Given the description of an element on the screen output the (x, y) to click on. 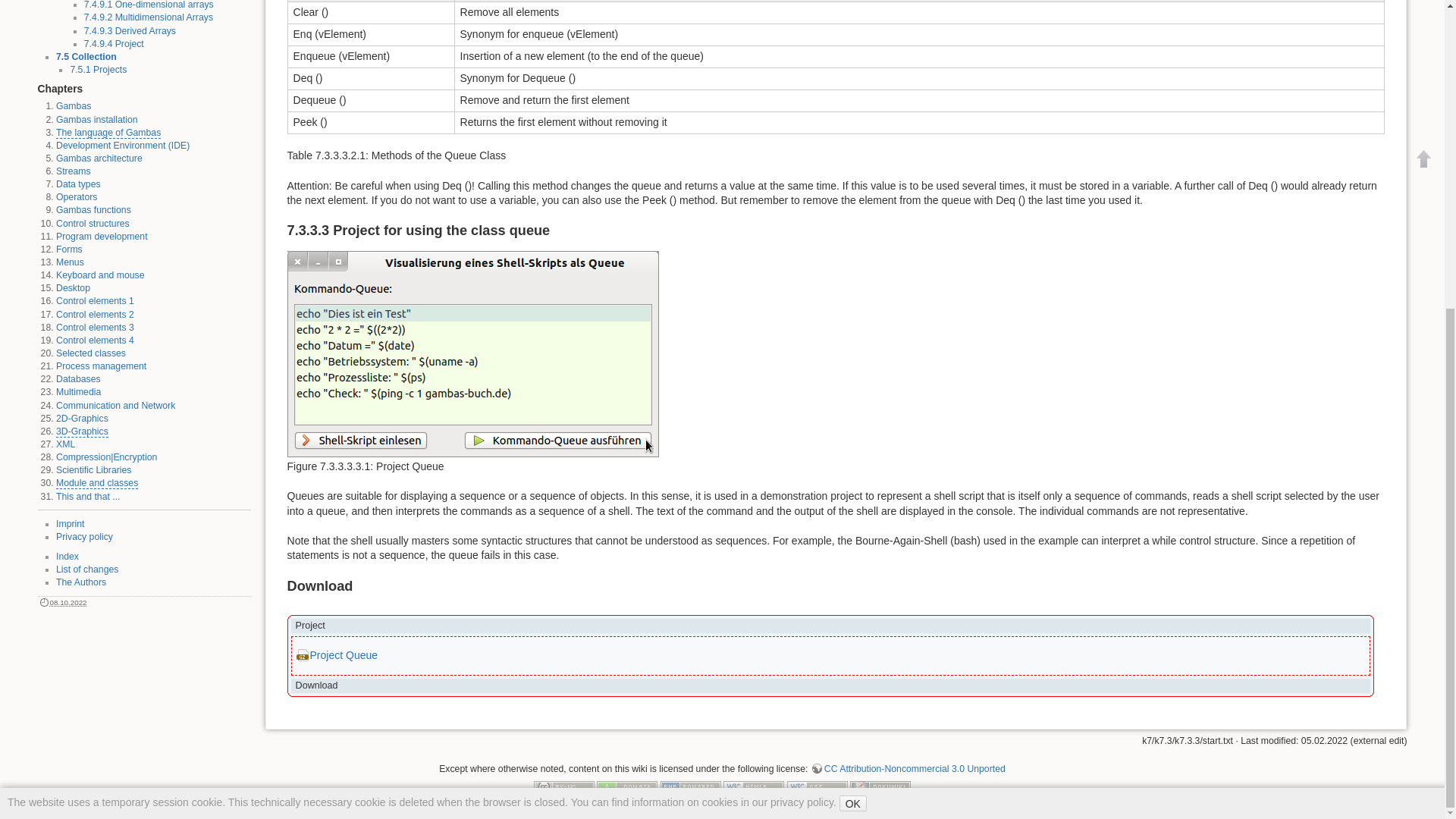
7.4.9.3 Derived Arrays (130, 30)
7.4.9.1 One-dimensional arrays (149, 4)
7.4.9.2 Multidimensional Arrays (148, 17)
7.4.9.4 Project (114, 43)
